Given the description of an element on the screen output the (x, y) to click on. 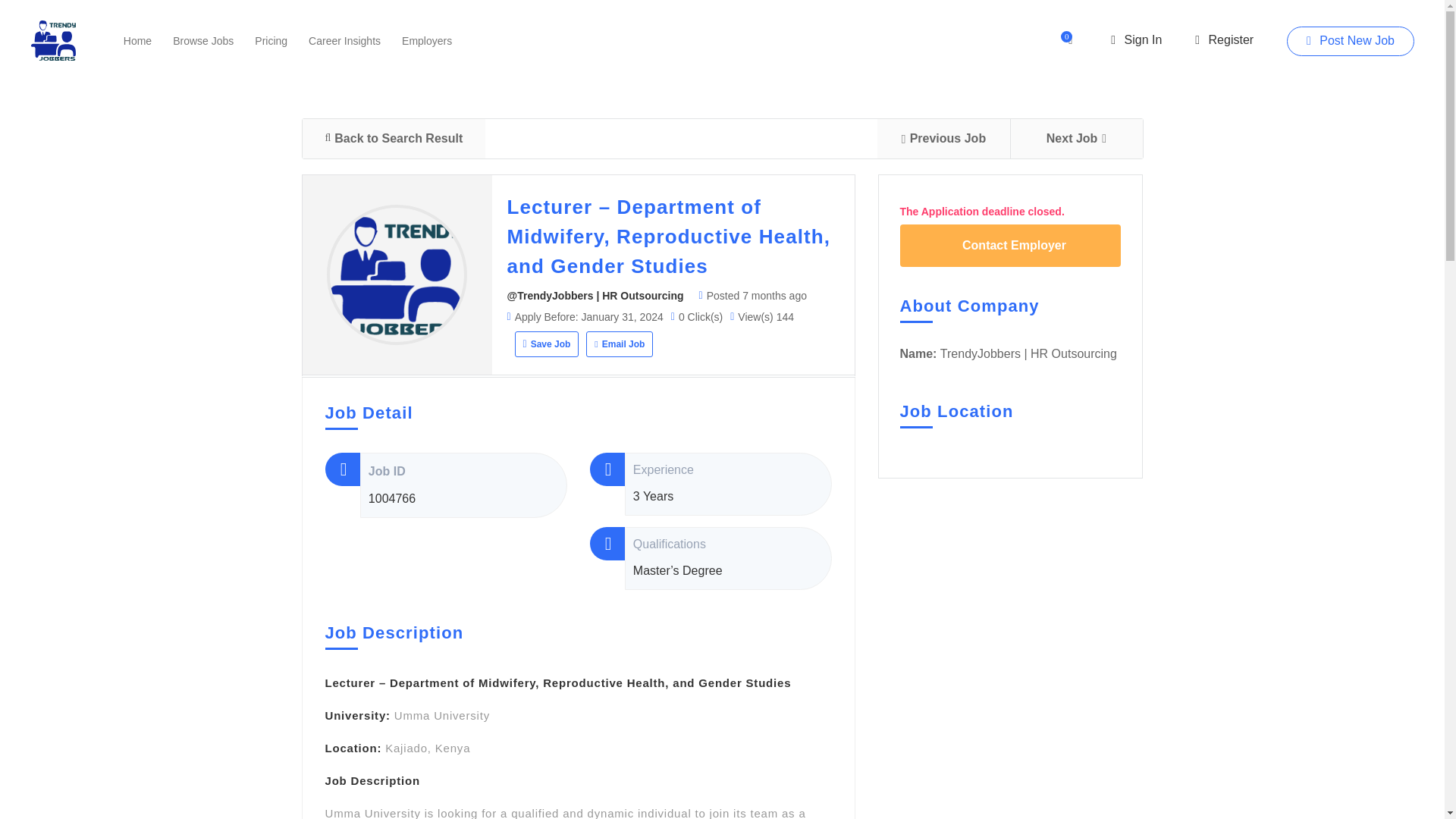
Contact Employer (1010, 245)
Save Job (545, 344)
Previous Job (942, 138)
Home (137, 39)
Employers (426, 39)
Pricing (270, 39)
Trendyjobbers (53, 40)
Sign In (1135, 39)
0 (1072, 39)
Email Job (619, 344)
Register (1224, 39)
Next Job (1076, 138)
Post New Job (1350, 40)
Back to Search Result (392, 138)
Browse Jobs (202, 39)
